Given the description of an element on the screen output the (x, y) to click on. 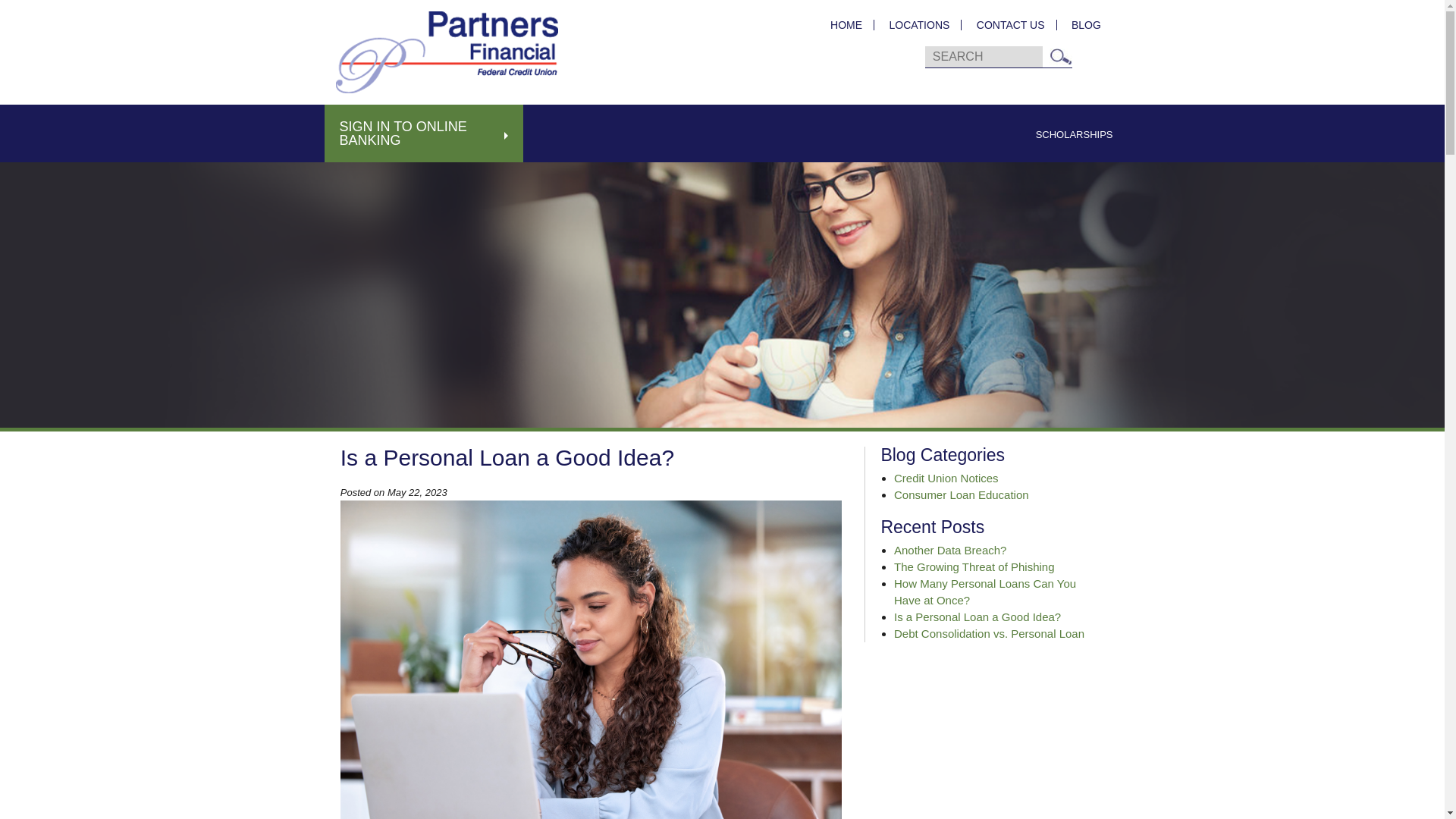
LOCATIONS (918, 24)
Is a Personal Loan a Good Idea? (977, 616)
SCHOLARSHIPS (1074, 134)
BLOG (1079, 24)
Consumer Loan Education (961, 494)
CONTACT US (1011, 24)
Credit Union Notices (945, 477)
SIGN IN TO ONLINE BANKING (424, 133)
HOME (845, 24)
Another Data Breach? (949, 549)
The Growing Threat of Phishing (973, 566)
Debt Consolidation vs. Personal Loan (988, 633)
How Many Personal Loans Can You Have at Once? (984, 591)
Search (1059, 56)
Search (1059, 56)
